Given the description of an element on the screen output the (x, y) to click on. 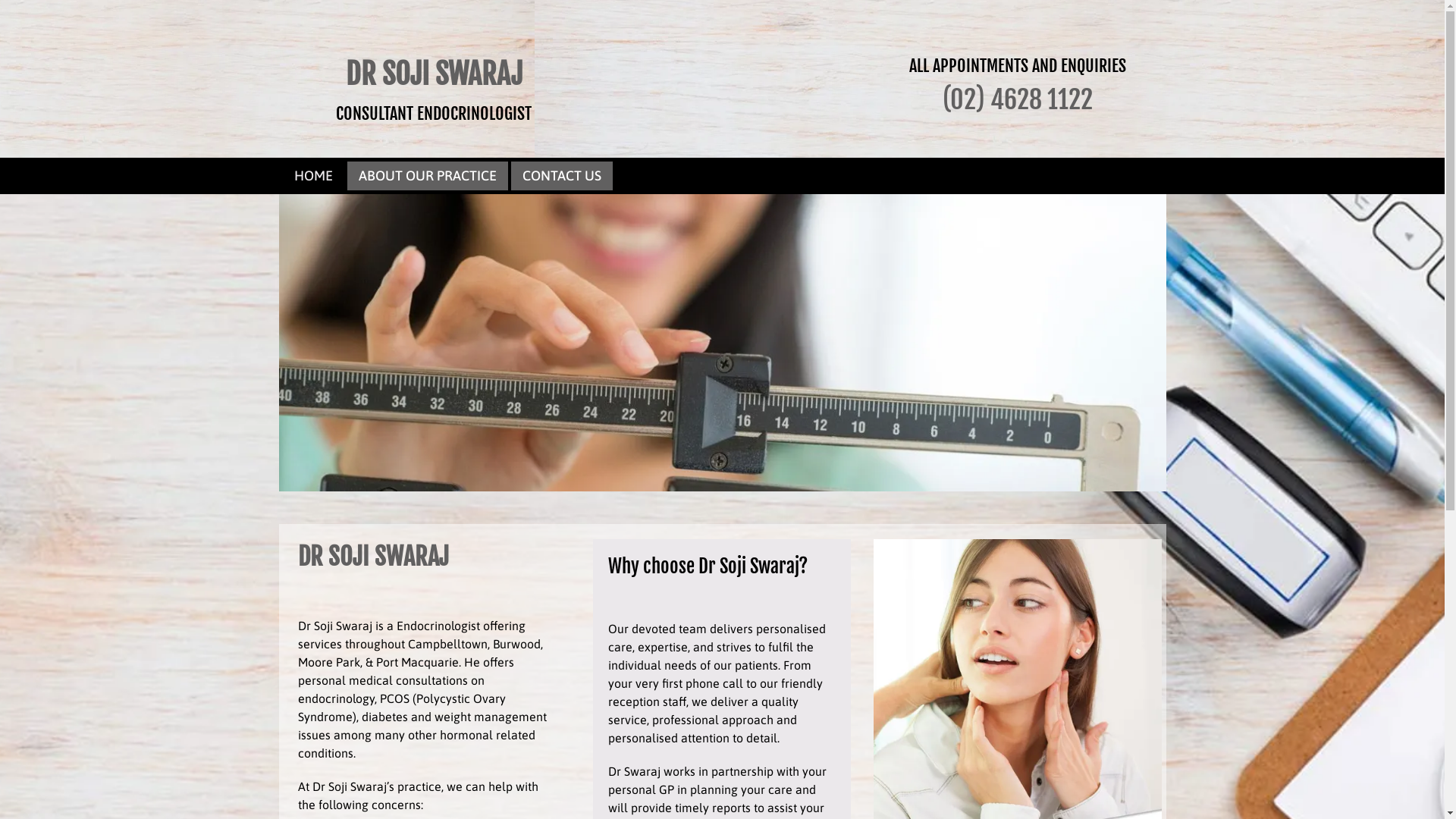
experienced weight management advice  Element type: hover (722, 342)
ABOUT OUR PRACTICE Element type: text (426, 175)
HOME Element type: text (313, 175)
(02) 4628 1122 Element type: text (1017, 99)
CONTACT US Element type: text (560, 175)
